Given the description of an element on the screen output the (x, y) to click on. 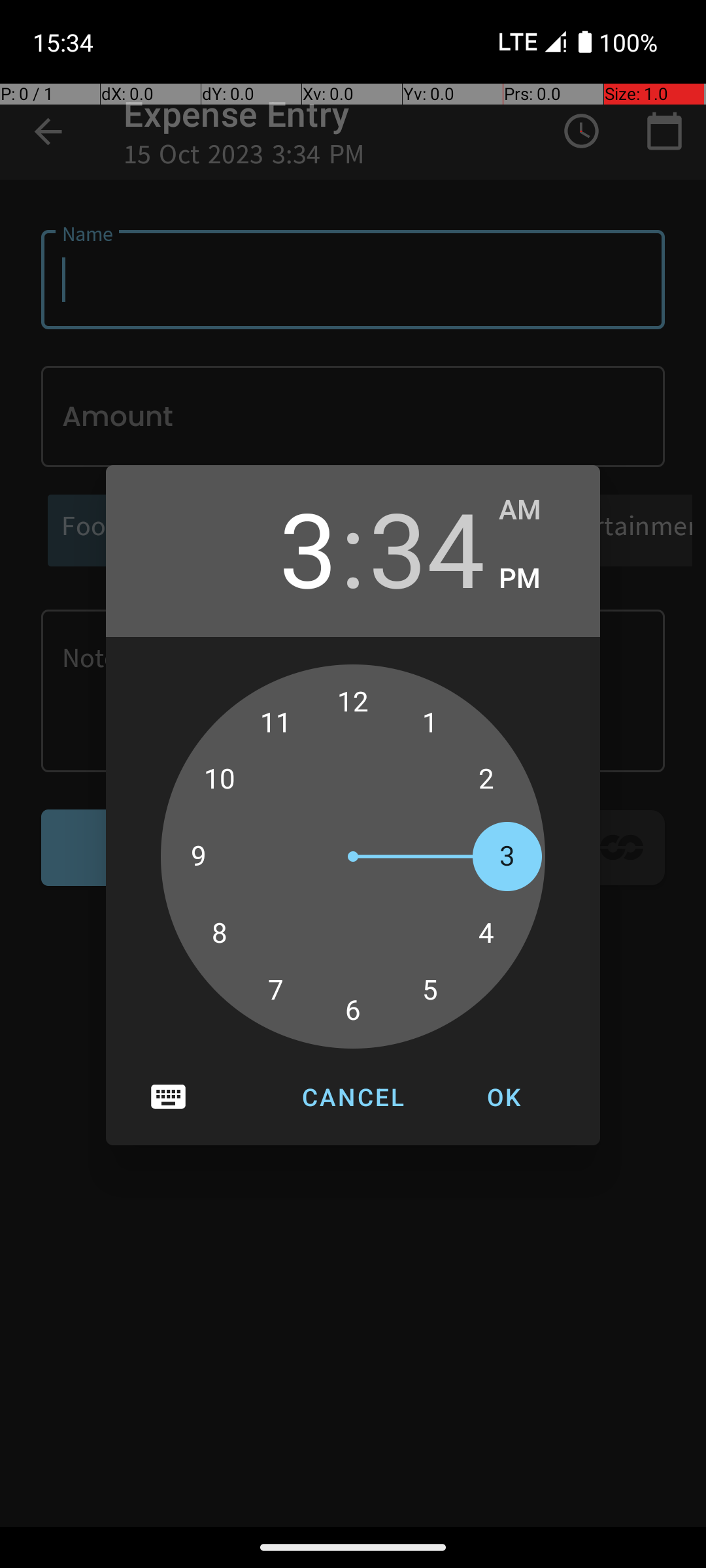
34 Element type: android.widget.TextView (426, 547)
